Given the description of an element on the screen output the (x, y) to click on. 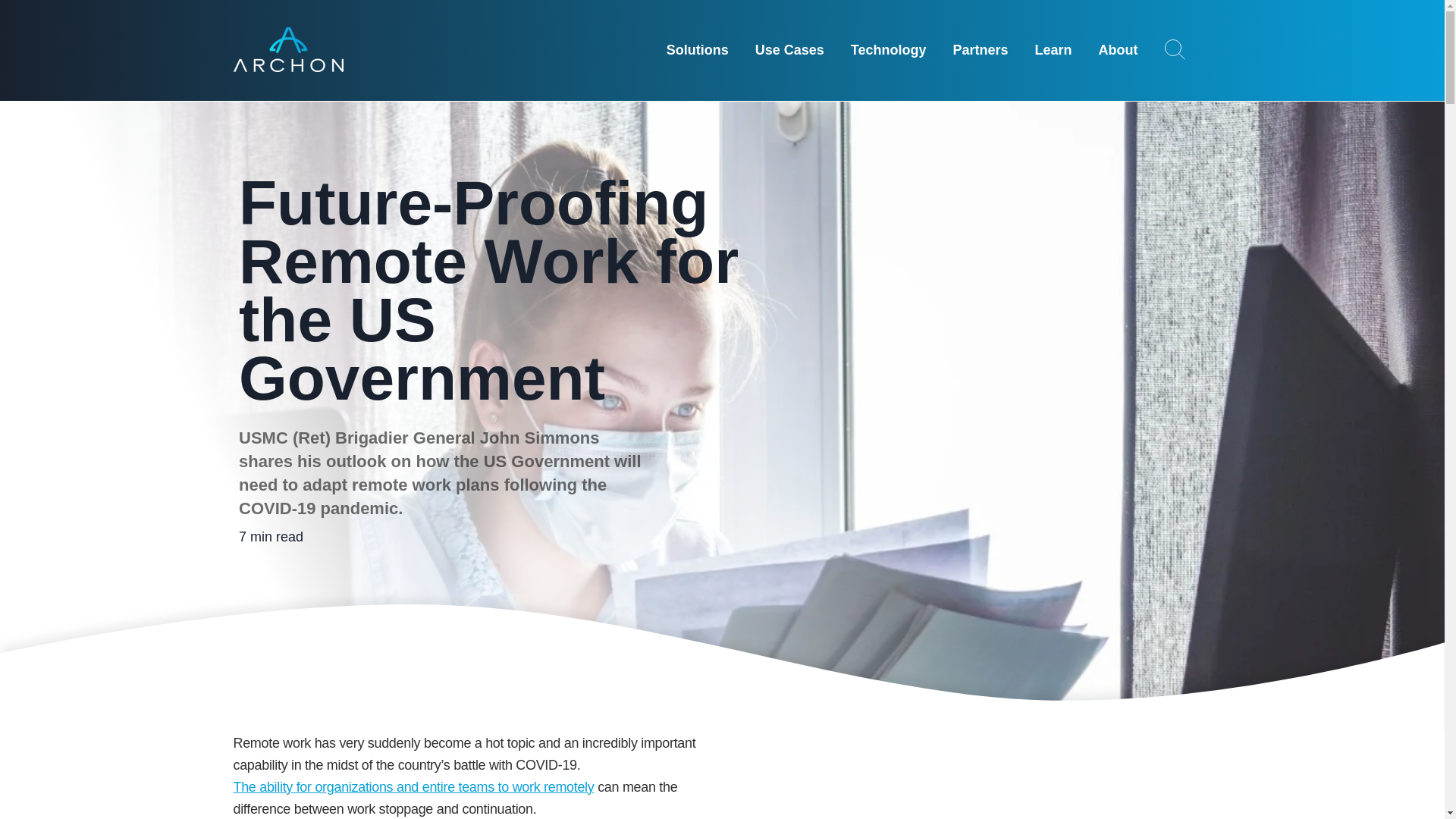
Solutions (697, 52)
Learn (1052, 52)
About (1118, 52)
Technology (888, 52)
Use Cases (789, 52)
Archon Secure  (287, 49)
Partners (979, 52)
